Given the description of an element on the screen output the (x, y) to click on. 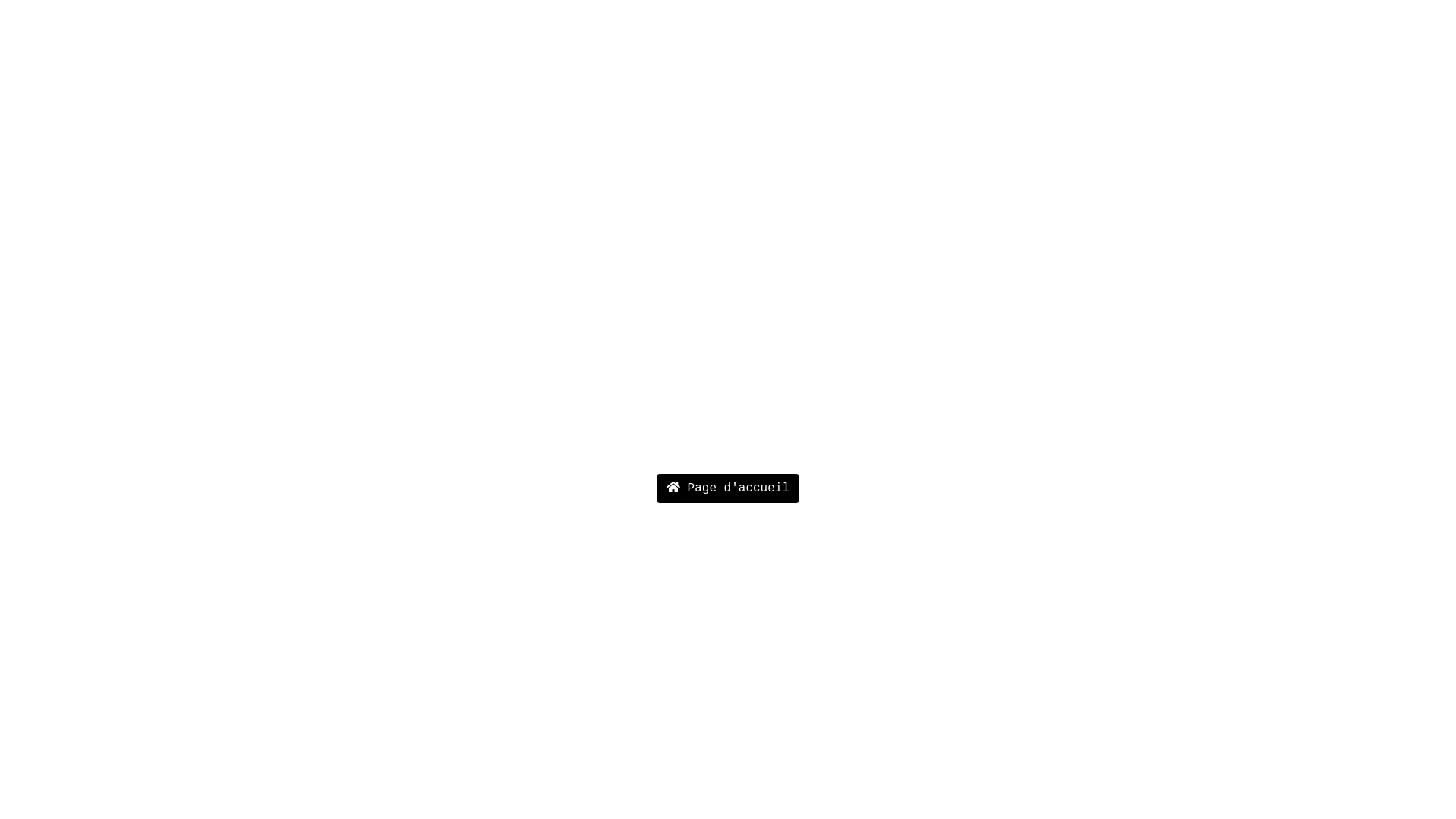
Page d'accueil Element type: text (727, 487)
